Given the description of an element on the screen output the (x, y) to click on. 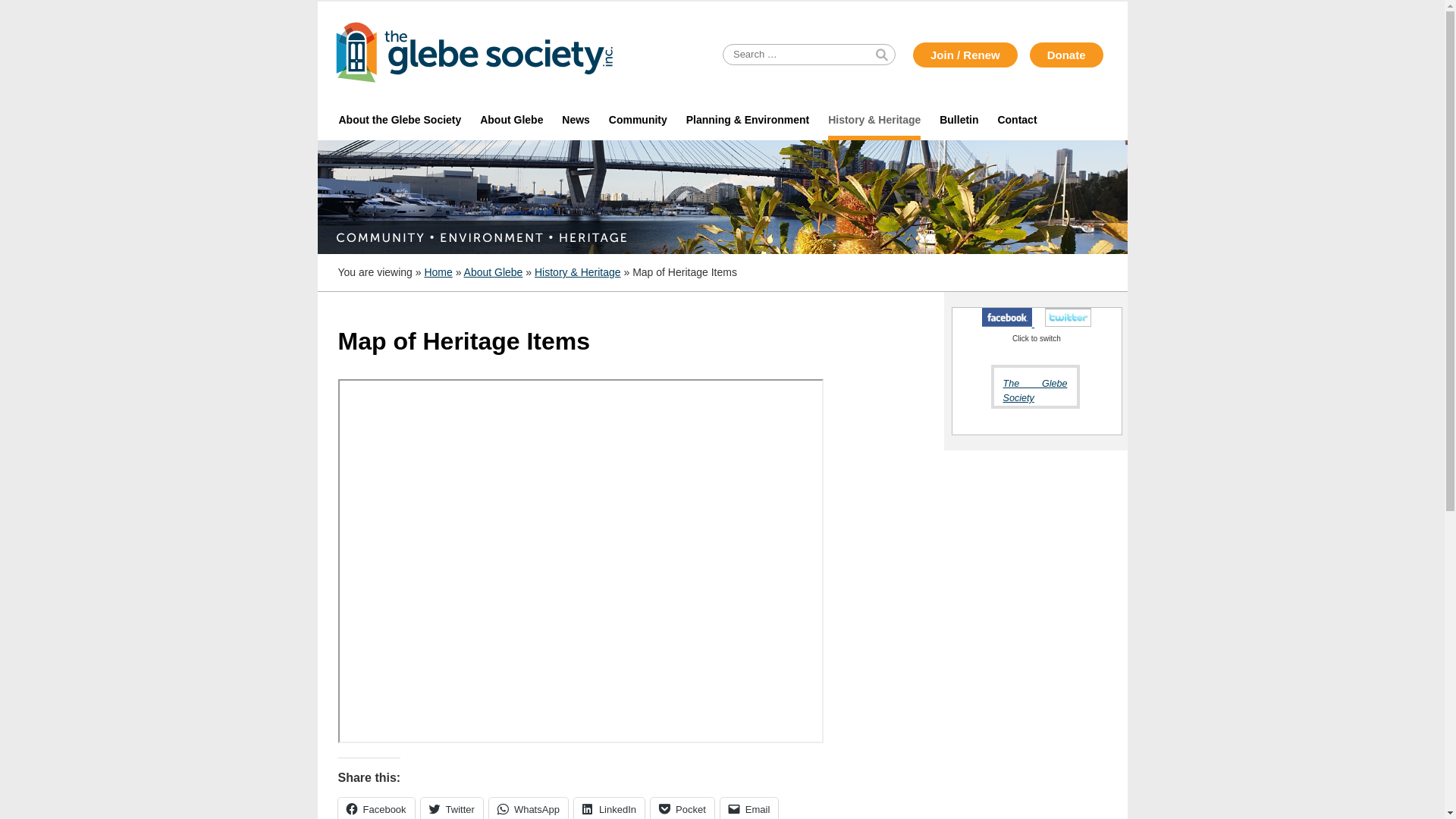
Planning & Environment Element type: text (747, 119)
The Glebe Society Element type: text (1034, 390)
Contact Element type: text (1016, 119)
Home Element type: text (437, 272)
About the Glebe Society Element type: text (399, 119)
About Glebe Element type: text (511, 119)
Join / Renew Element type: text (965, 54)
Bulletin Element type: text (958, 119)
Donate Element type: text (1066, 54)
About Glebe Element type: text (493, 272)
History & Heritage Element type: text (577, 272)
Community Element type: text (637, 119)
News Element type: text (576, 119)
Search Element type: text (36, 10)
History & Heritage Element type: text (874, 119)
